Given the description of an element on the screen output the (x, y) to click on. 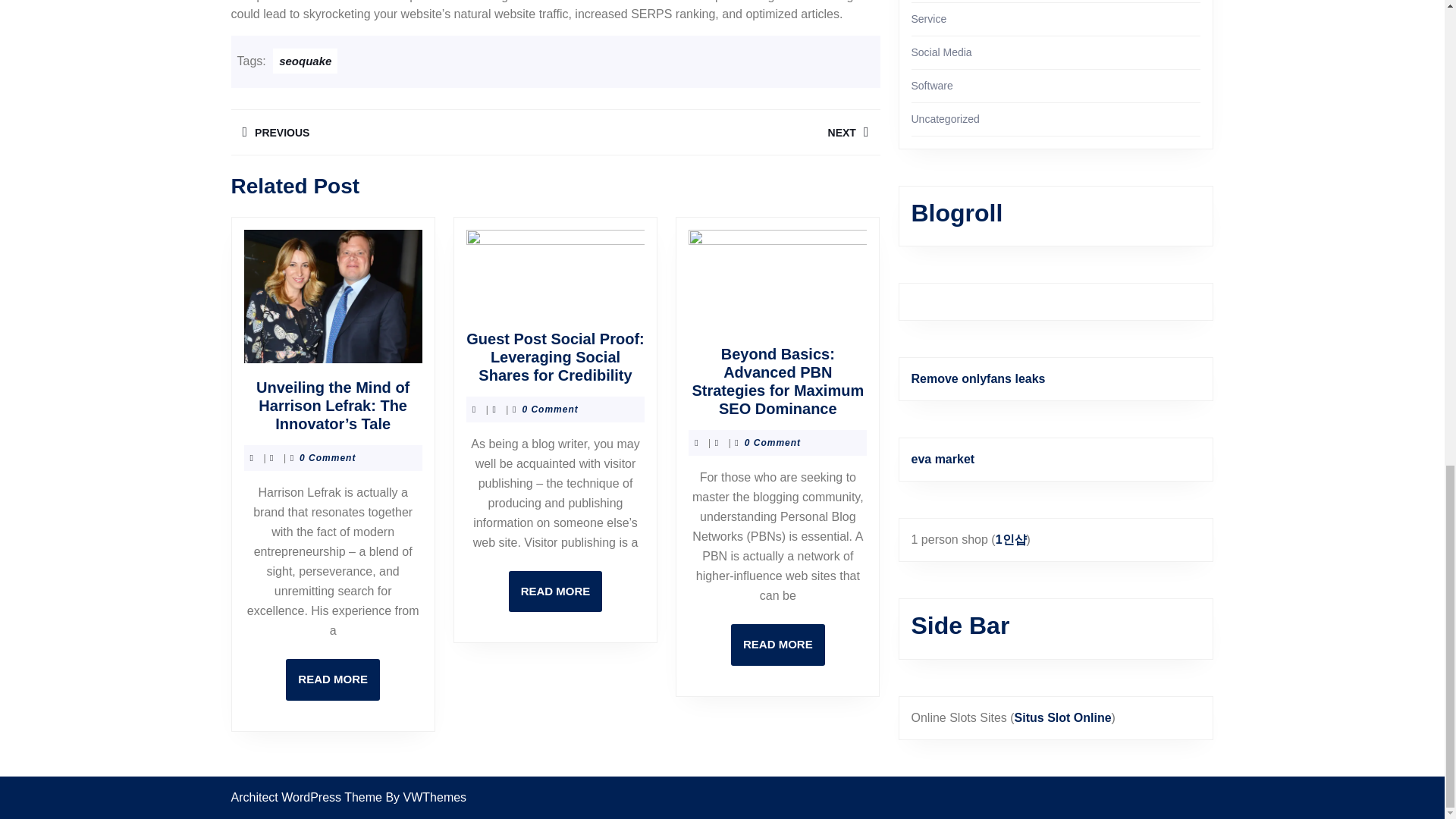
seoquake (555, 591)
